Given the description of an element on the screen output the (x, y) to click on. 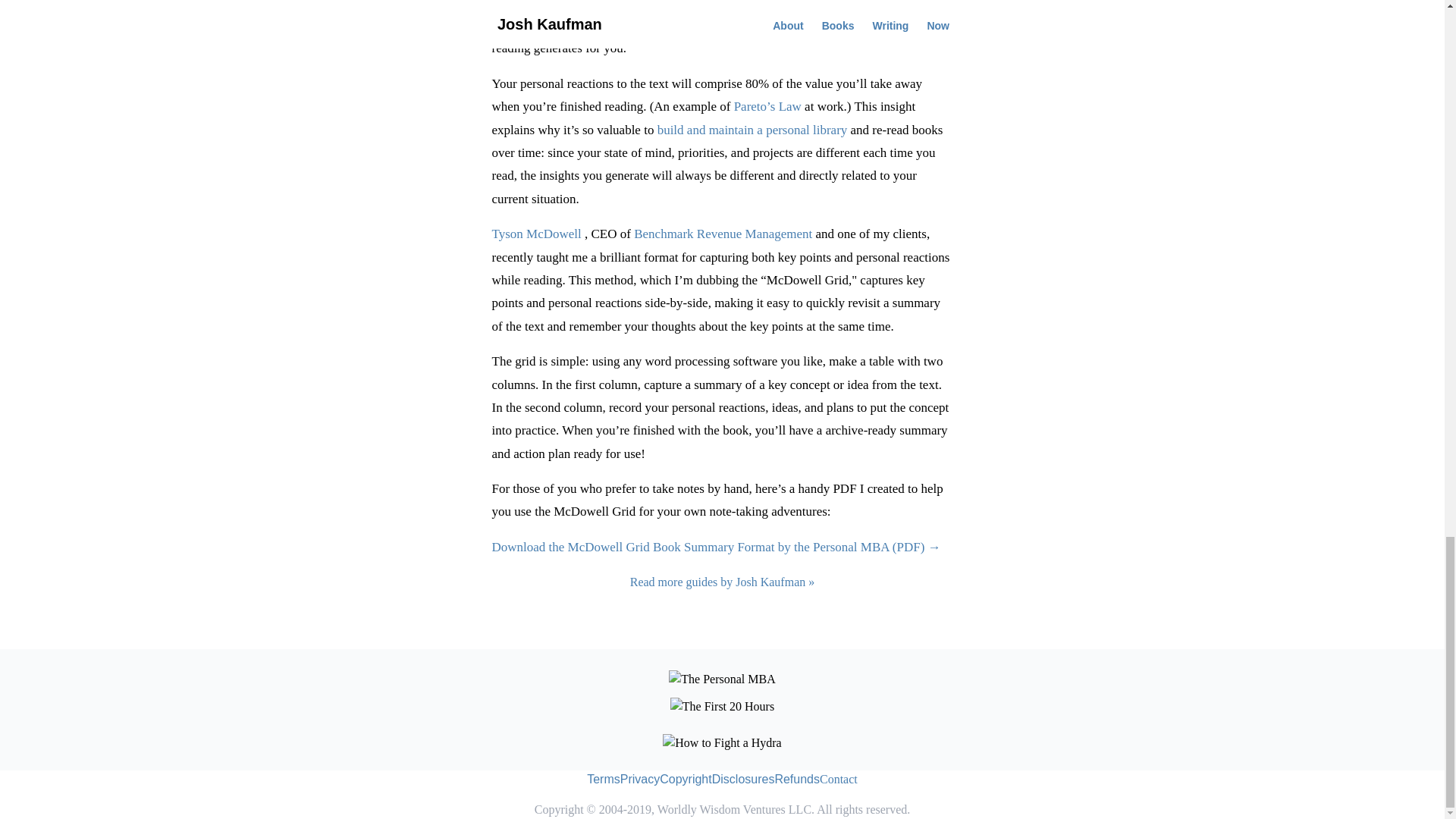
Benchmark Revenue Management (722, 233)
Contact (838, 779)
Worldly Wisdom Ventures LLC (734, 809)
Terms (603, 779)
Privacy (639, 779)
Disclosures (742, 779)
Copyright (685, 779)
Refunds (796, 779)
build and maintain a personal library (752, 129)
Tyson McDowell (536, 233)
